Given the description of an element on the screen output the (x, y) to click on. 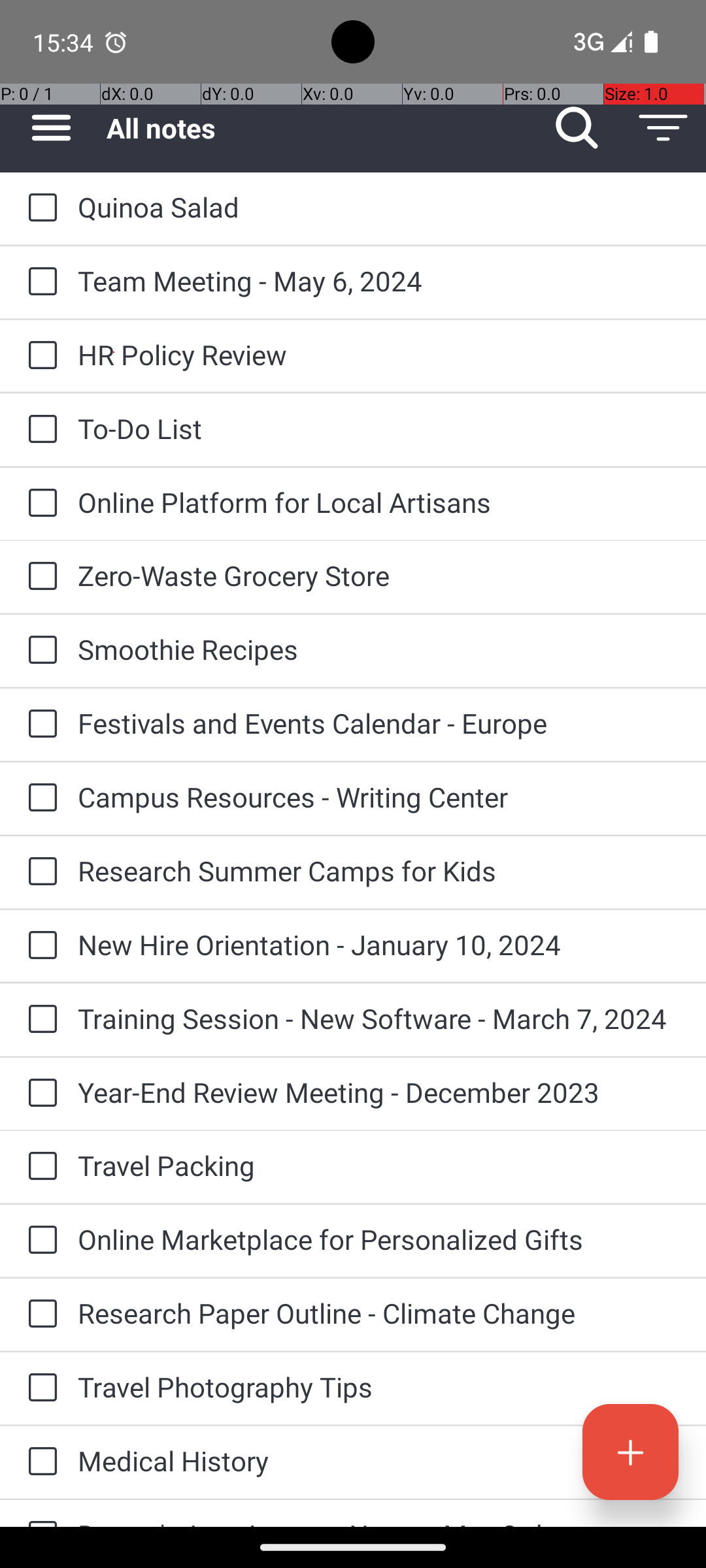
to-do: Quinoa Salad Element type: android.widget.CheckBox (38, 208)
Quinoa Salad Element type: android.widget.TextView (378, 206)
to-do: To-Do List Element type: android.widget.CheckBox (38, 429)
To-Do List Element type: android.widget.TextView (378, 427)
to-do: Online Platform for Local Artisans Element type: android.widget.CheckBox (38, 503)
Online Platform for Local Artisans Element type: android.widget.TextView (378, 501)
to-do: Zero-Waste Grocery Store Element type: android.widget.CheckBox (38, 576)
Zero-Waste Grocery Store Element type: android.widget.TextView (378, 574)
to-do: Smoothie Recipes Element type: android.widget.CheckBox (38, 650)
Smoothie Recipes Element type: android.widget.TextView (378, 648)
to-do: Festivals and Events Calendar - Europe Element type: android.widget.CheckBox (38, 724)
Festivals and Events Calendar - Europe Element type: android.widget.TextView (378, 722)
to-do: Campus Resources - Writing Center Element type: android.widget.CheckBox (38, 798)
Campus Resources - Writing Center Element type: android.widget.TextView (378, 796)
to-do: Research Summer Camps for Kids Element type: android.widget.CheckBox (38, 872)
Research Summer Camps for Kids Element type: android.widget.TextView (378, 870)
to-do: Training Session - New Software - March 7, 2024 Element type: android.widget.CheckBox (38, 1019)
Training Session - New Software - March 7, 2024 Element type: android.widget.TextView (378, 1017)
to-do: Year-End Review Meeting - December 2023 Element type: android.widget.CheckBox (38, 1093)
Year-End Review Meeting - December 2023 Element type: android.widget.TextView (378, 1091)
to-do: Travel Packing Element type: android.widget.CheckBox (38, 1166)
Travel Packing Element type: android.widget.TextView (378, 1164)
to-do: Online Marketplace for Personalized Gifts Element type: android.widget.CheckBox (38, 1240)
Online Marketplace for Personalized Gifts Element type: android.widget.TextView (378, 1238)
to-do: Travel Photography Tips Element type: android.widget.CheckBox (38, 1388)
Travel Photography Tips Element type: android.widget.TextView (378, 1386)
to-do: Medical History Element type: android.widget.CheckBox (38, 1462)
